Given the description of an element on the screen output the (x, y) to click on. 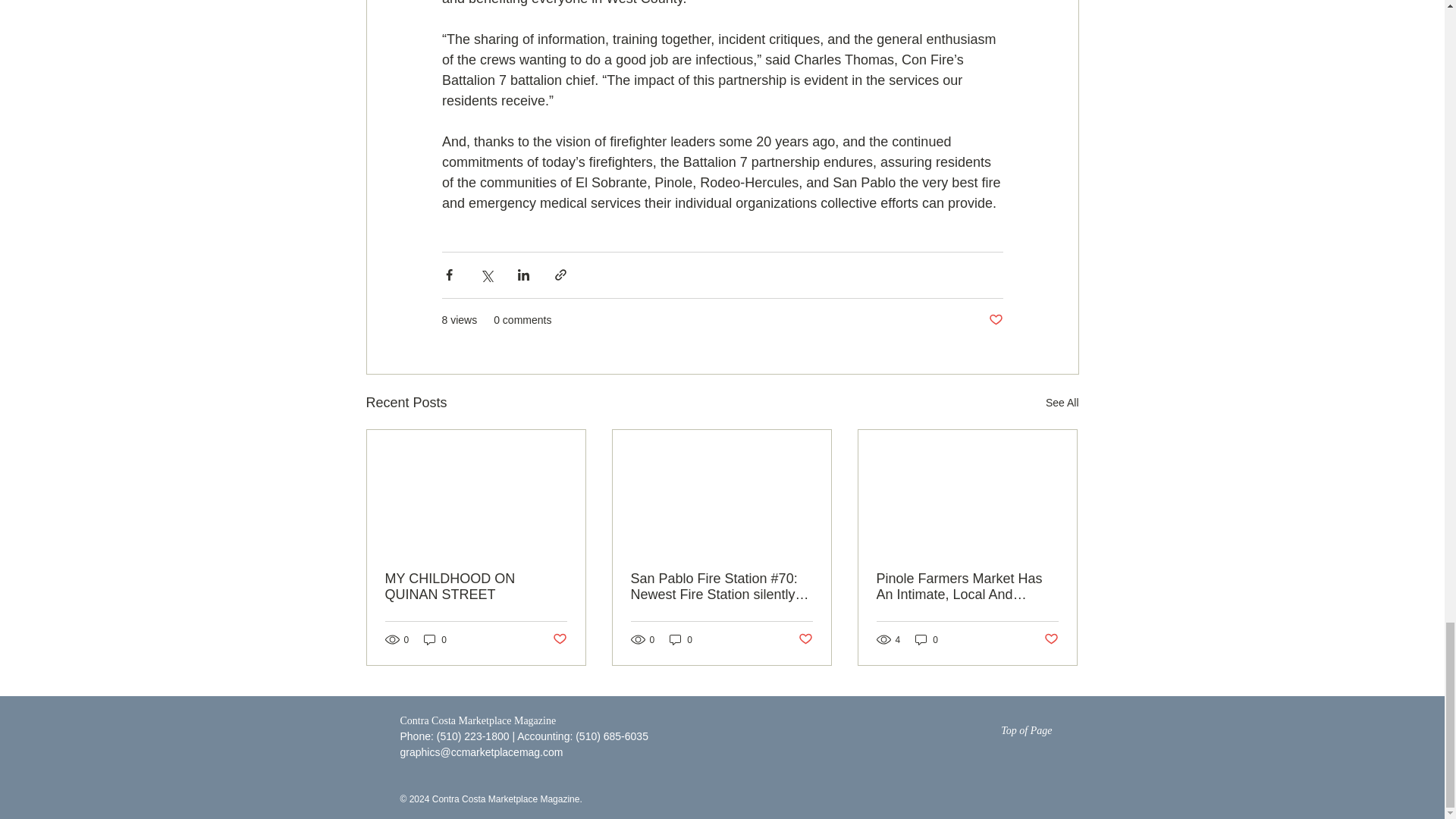
MY CHILDHOOD ON QUINAN STREET (476, 586)
Post not marked as liked (558, 639)
Post not marked as liked (804, 639)
See All (1061, 403)
0 (926, 639)
0 (681, 639)
Post not marked as liked (995, 320)
0 (435, 639)
